Given the description of an element on the screen output the (x, y) to click on. 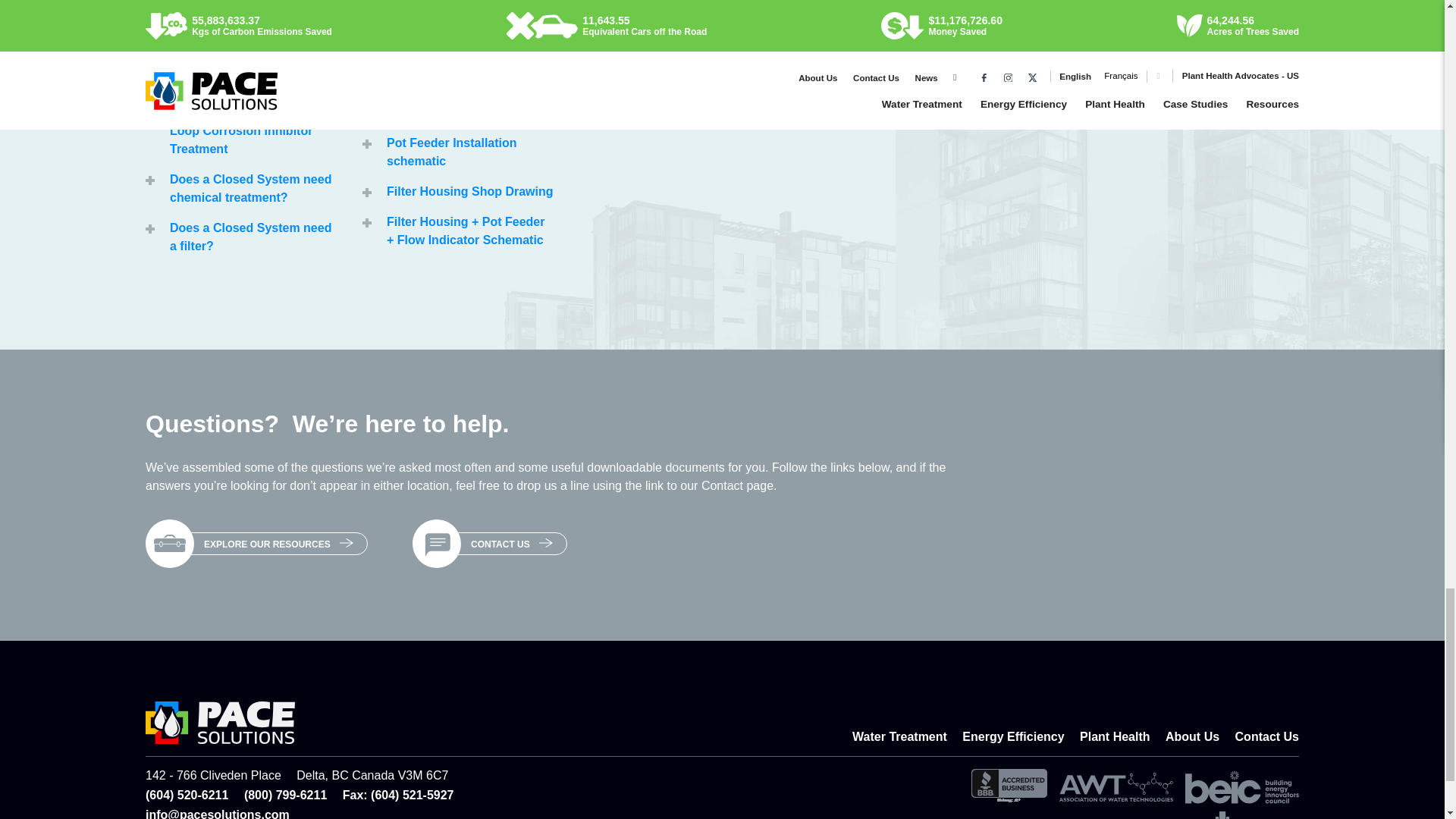
View Resources (169, 543)
Phone (194, 794)
International Toll-Free (293, 794)
Contact Us (512, 543)
Email (217, 813)
Contact Us (436, 543)
View Resources (278, 543)
